Given the description of an element on the screen output the (x, y) to click on. 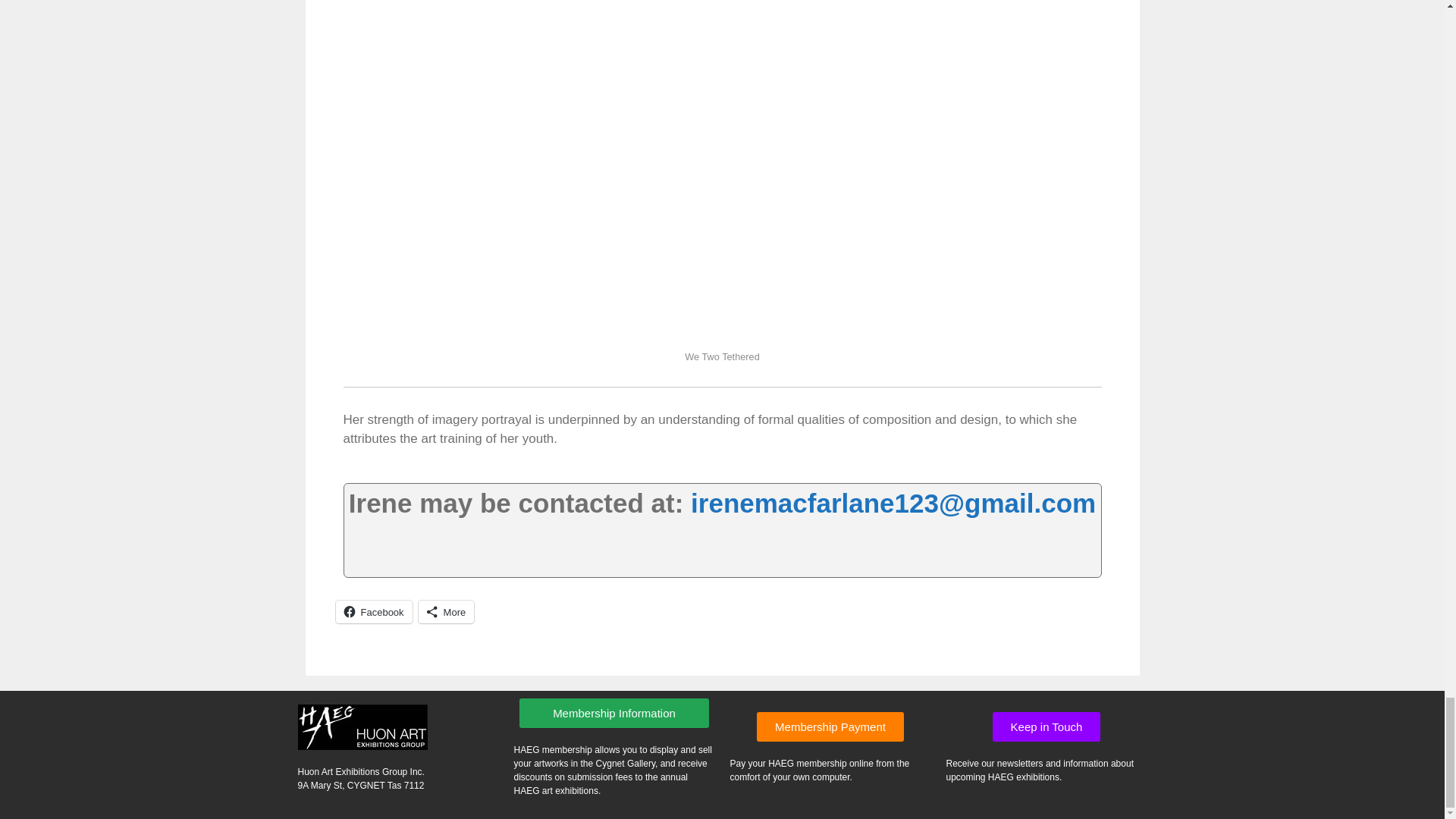
Click to share on Facebook (373, 611)
